Given the description of an element on the screen output the (x, y) to click on. 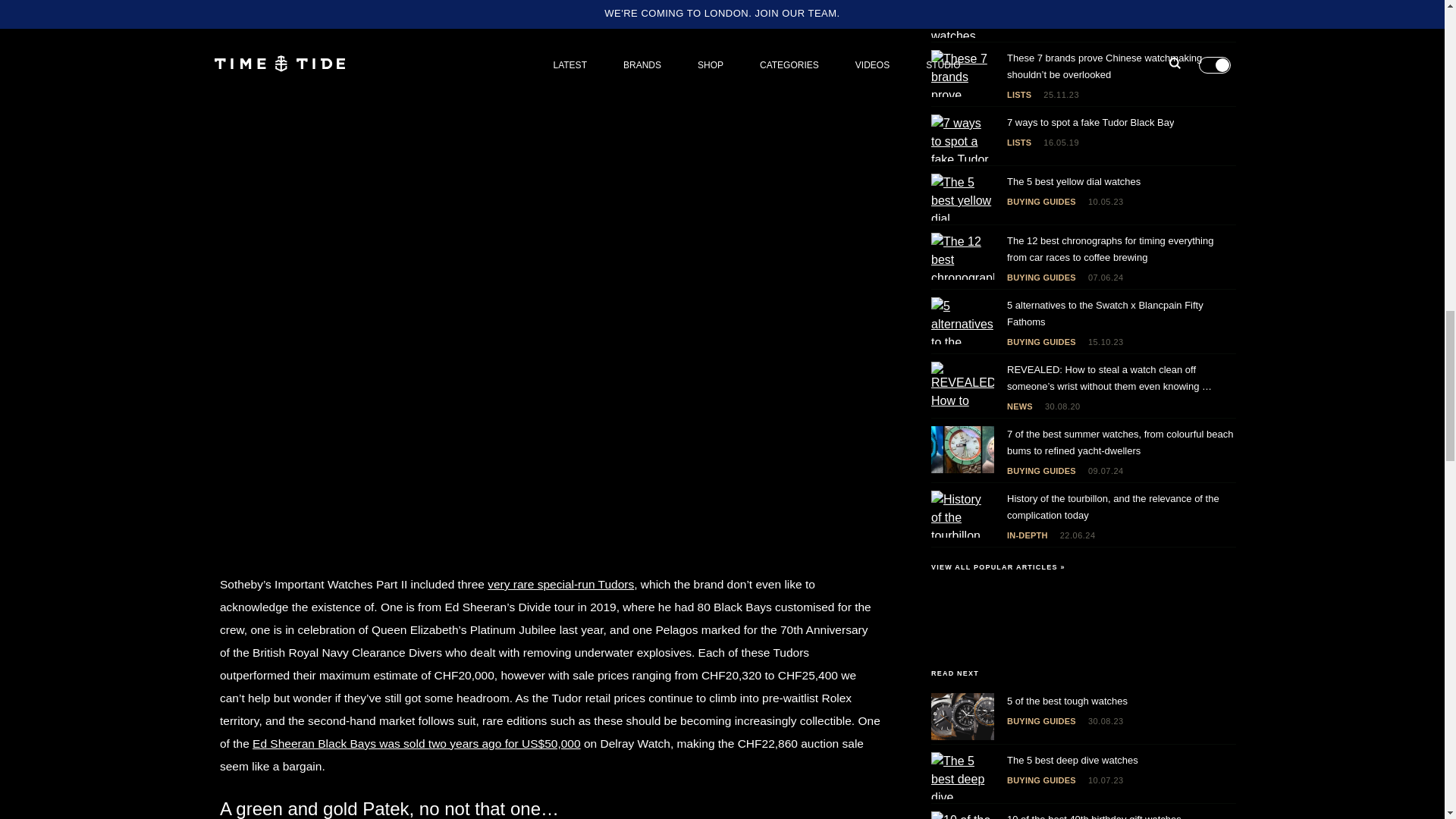
very rare special-run Tudors (560, 584)
